Given the description of an element on the screen output the (x, y) to click on. 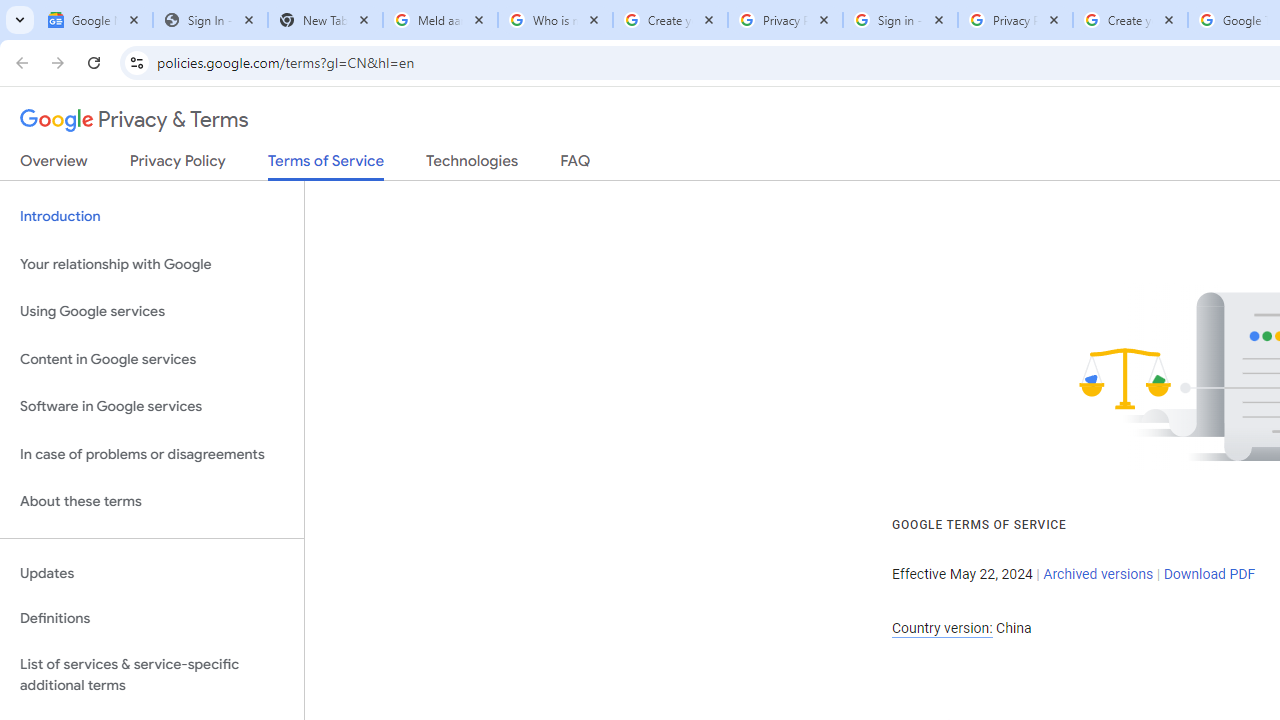
Sign In - USA TODAY (209, 20)
Google News (95, 20)
Create your Google Account (670, 20)
Create your Google Account (1129, 20)
Software in Google services (152, 407)
